Given the description of an element on the screen output the (x, y) to click on. 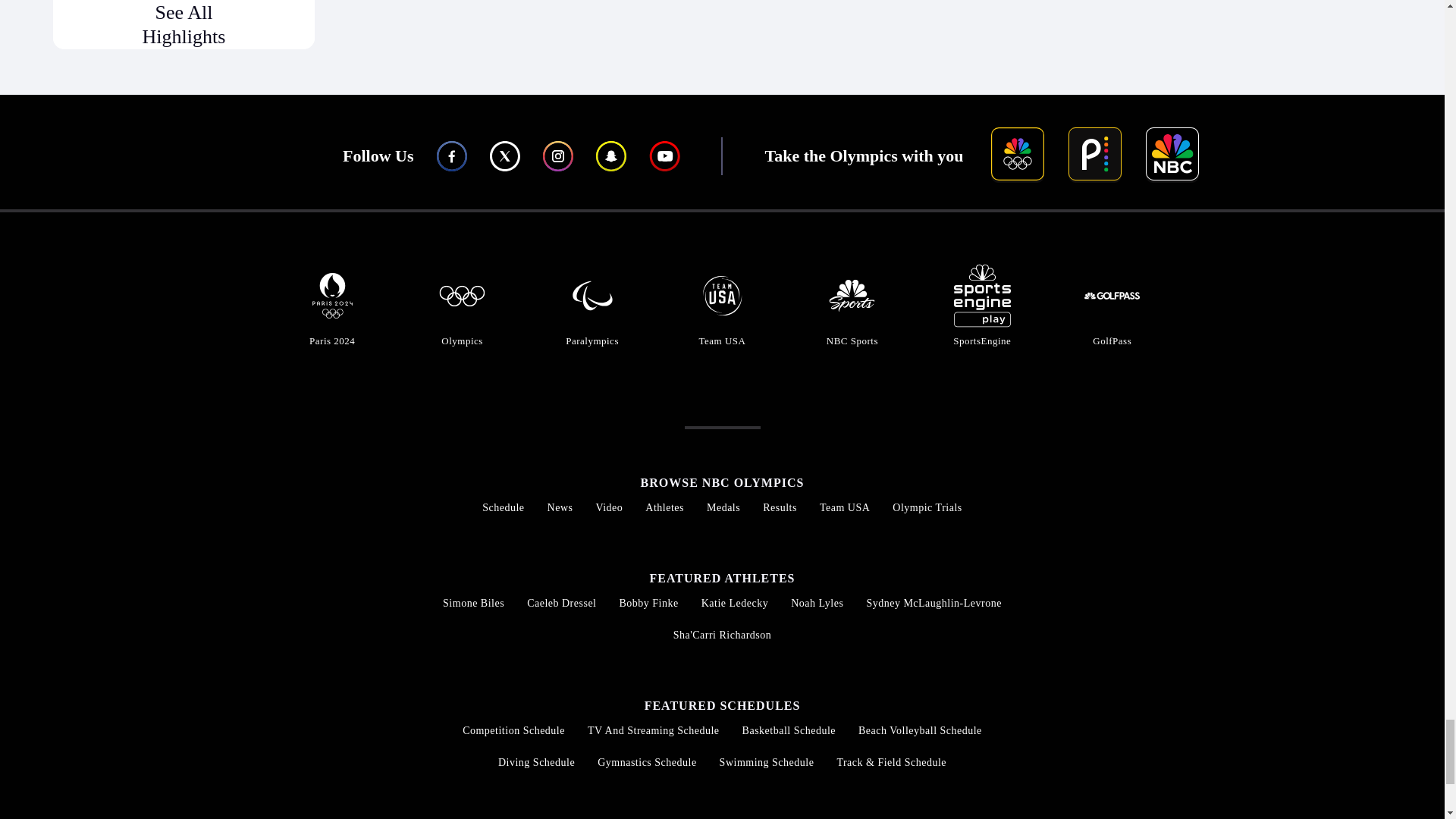
Schedule (502, 507)
News (560, 507)
Video (609, 507)
Results (779, 507)
Athletes (664, 507)
Team USA (844, 507)
Medals (722, 507)
